Given the description of an element on the screen output the (x, y) to click on. 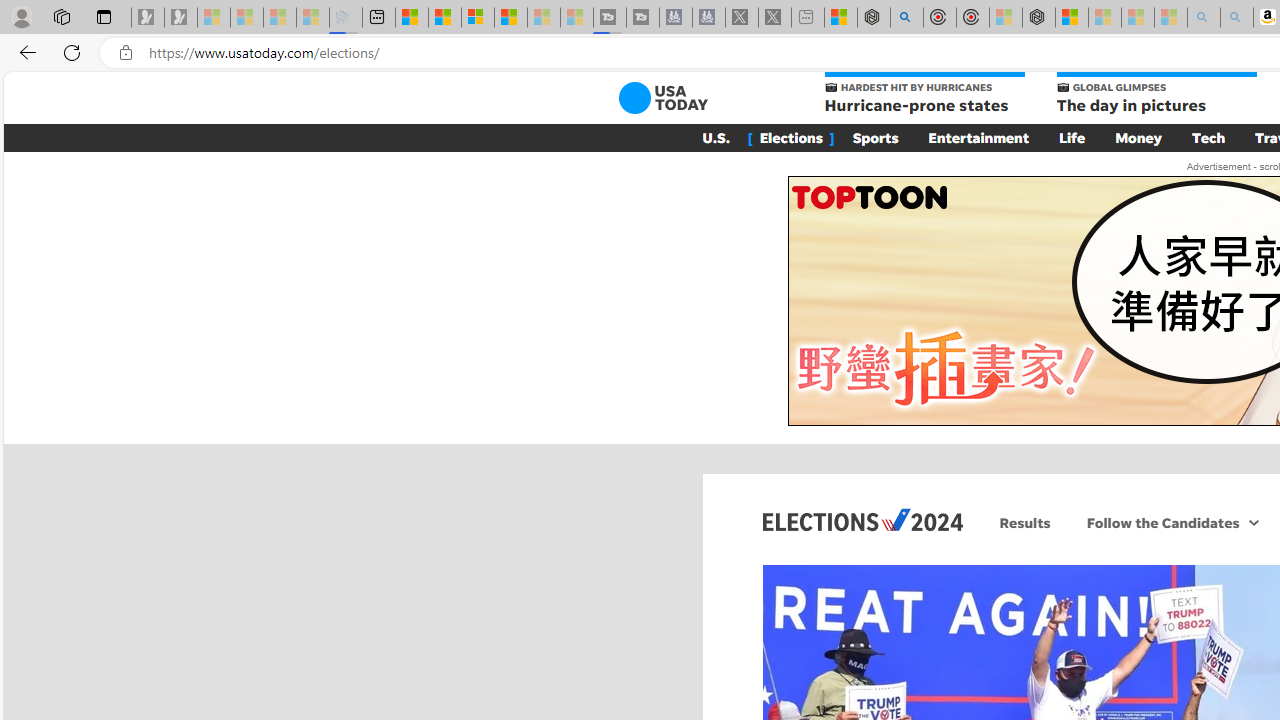
Streaming Coverage | T3 - Sleeping (609, 17)
Newsletter Sign Up - Sleeping (181, 17)
Microsoft Start - Sleeping (543, 17)
U.S. (715, 137)
Tech (1208, 137)
Entertainment (978, 137)
Overview (478, 17)
New tab - Sleeping (808, 17)
